Given the description of an element on the screen output the (x, y) to click on. 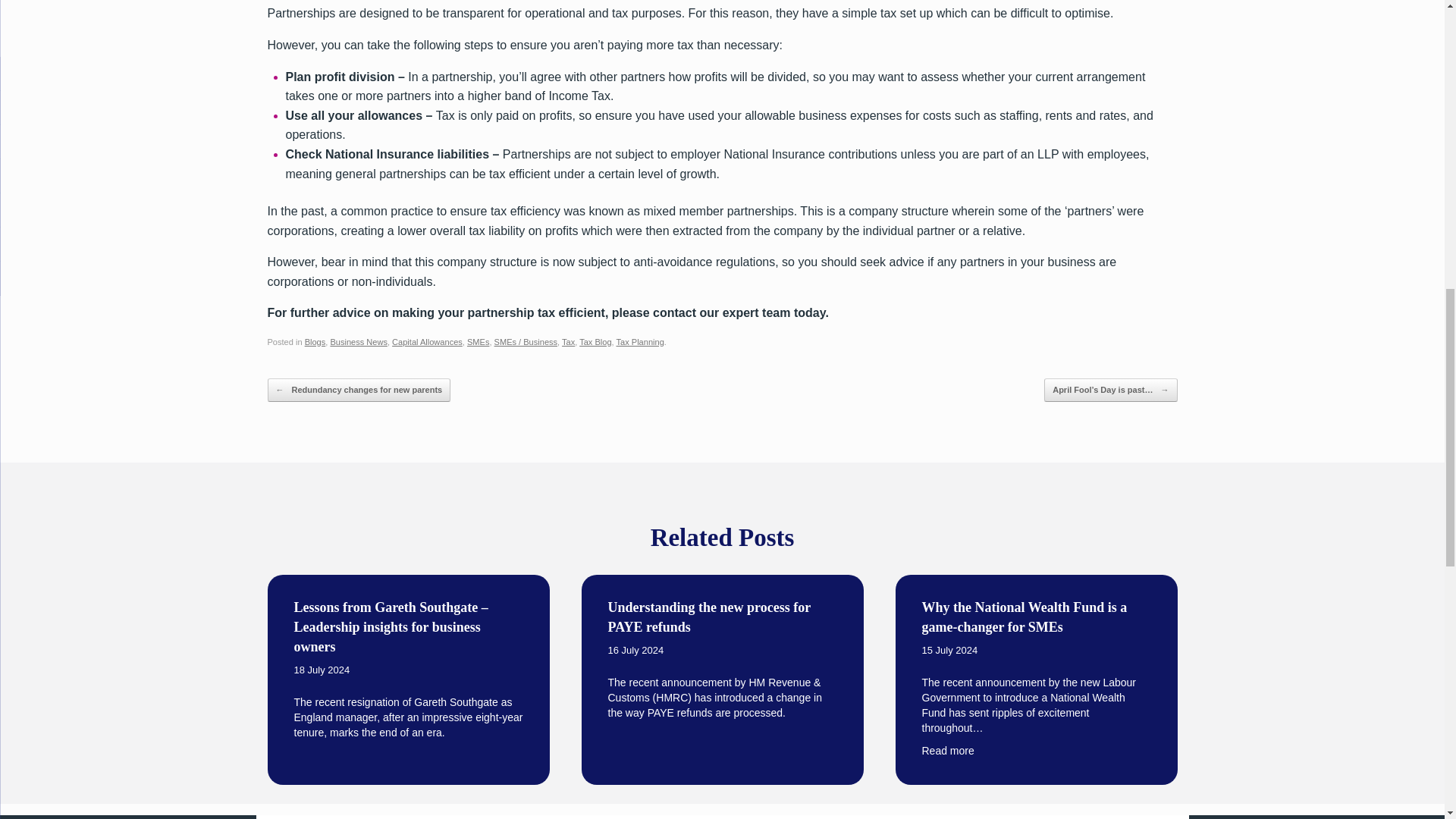
Understanding the new process for PAYE refunds (722, 658)
